Given the description of an element on the screen output the (x, y) to click on. 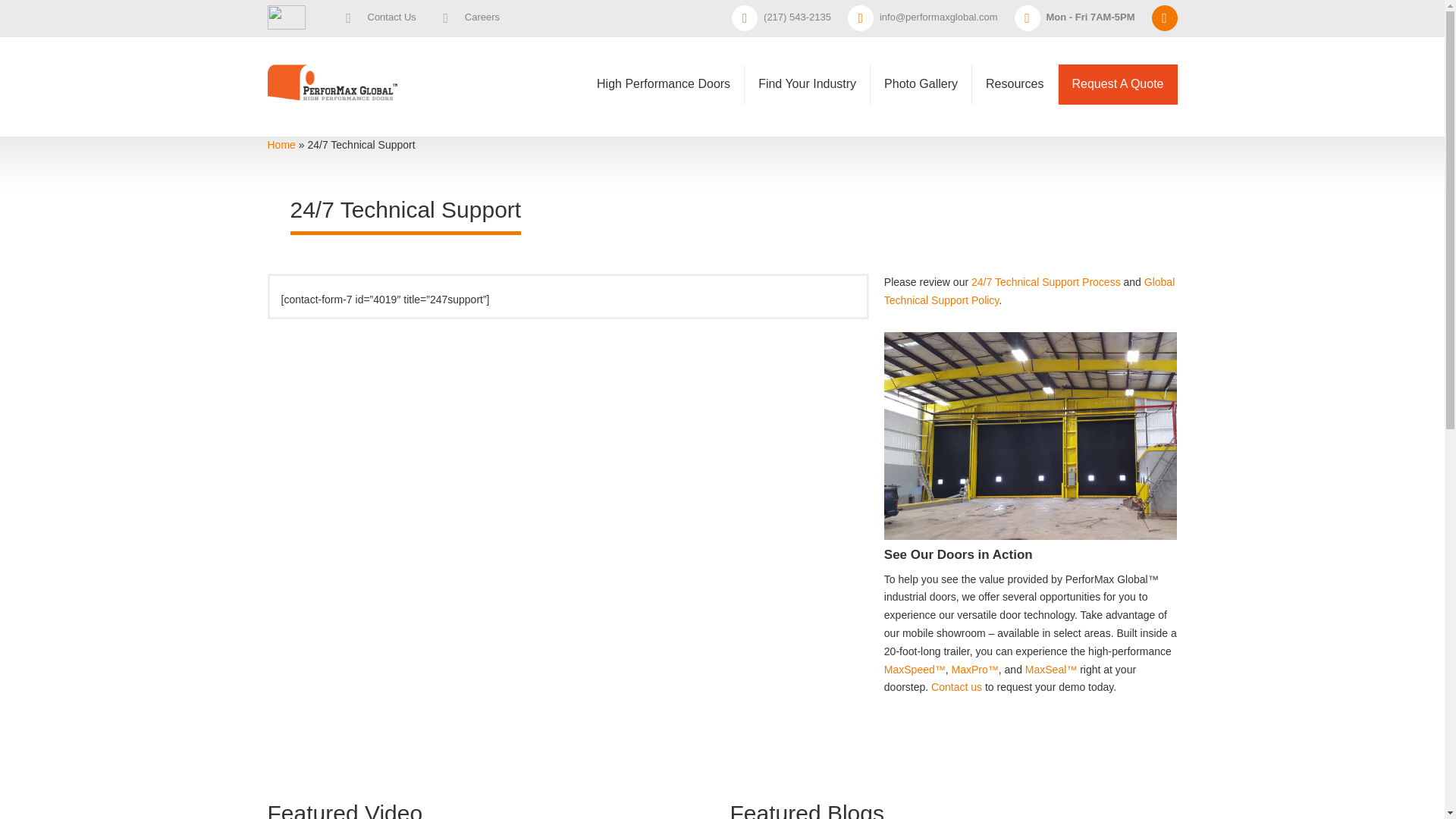
Photo Gallery (920, 84)
Request A Quote (1117, 84)
Global Technical Support Policy (1028, 291)
Home (280, 144)
High Performance Doors (663, 76)
Resources (1014, 84)
Find Your Industry (806, 84)
